Given the description of an element on the screen output the (x, y) to click on. 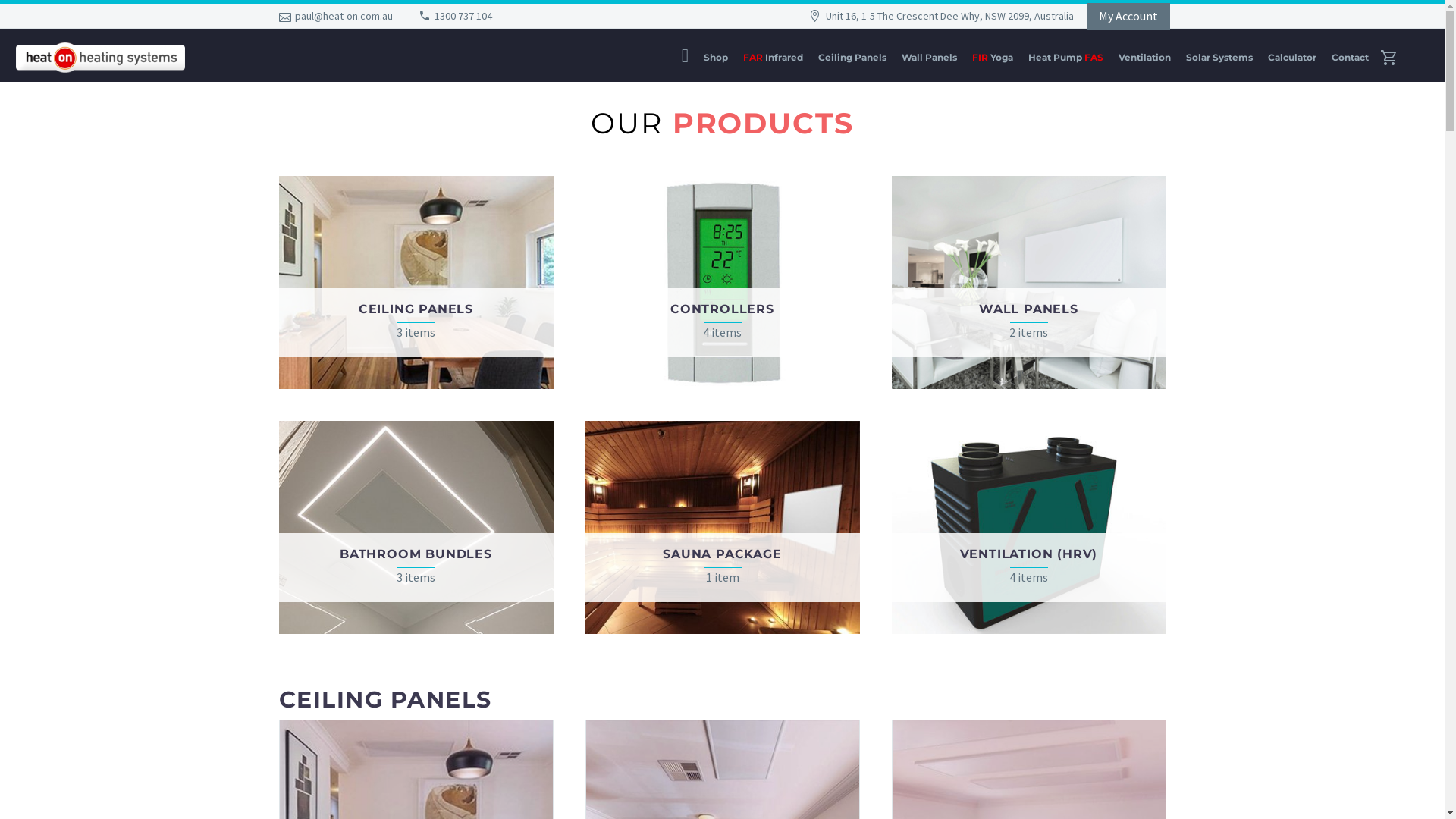
WALL PANELS
2 items Element type: text (1028, 282)
FAR Infrared Element type: text (772, 56)
Shop Element type: text (715, 56)
CONTROLLERS
4 items Element type: text (722, 282)
paul@heat-on.com.au Element type: text (343, 15)
My Account Element type: text (1127, 16)
SAUNA PACKAGE
1 item Element type: text (722, 526)
Contact Element type: text (1350, 56)
VENTILATION (HRV)
4 items Element type: text (1028, 526)
Ventilation Element type: text (1144, 56)
FIR Yoga Element type: text (992, 56)
BATHROOM BUNDLES
3 items Element type: text (416, 526)
CEILING PANELS
3 items Element type: text (416, 282)
Ceiling Panels Element type: text (852, 56)
1300 737 104 Element type: text (463, 15)
Wall Panels Element type: text (929, 56)
Calculator Element type: text (1292, 56)
Solar Systems Element type: text (1219, 56)
Heat Pump FAS Element type: text (1065, 56)
